Given the description of an element on the screen output the (x, y) to click on. 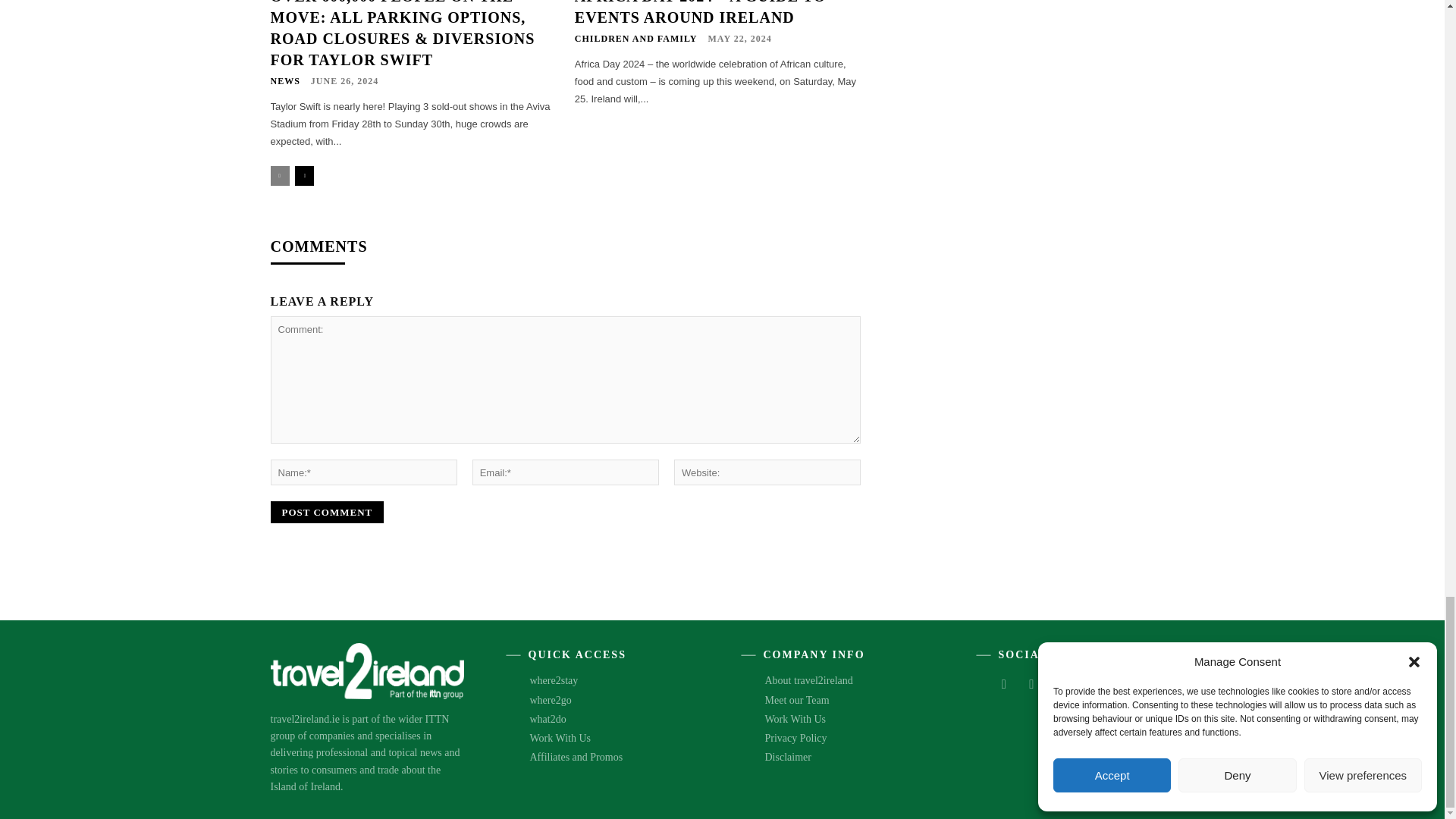
Post Comment (326, 512)
